Given the description of an element on the screen output the (x, y) to click on. 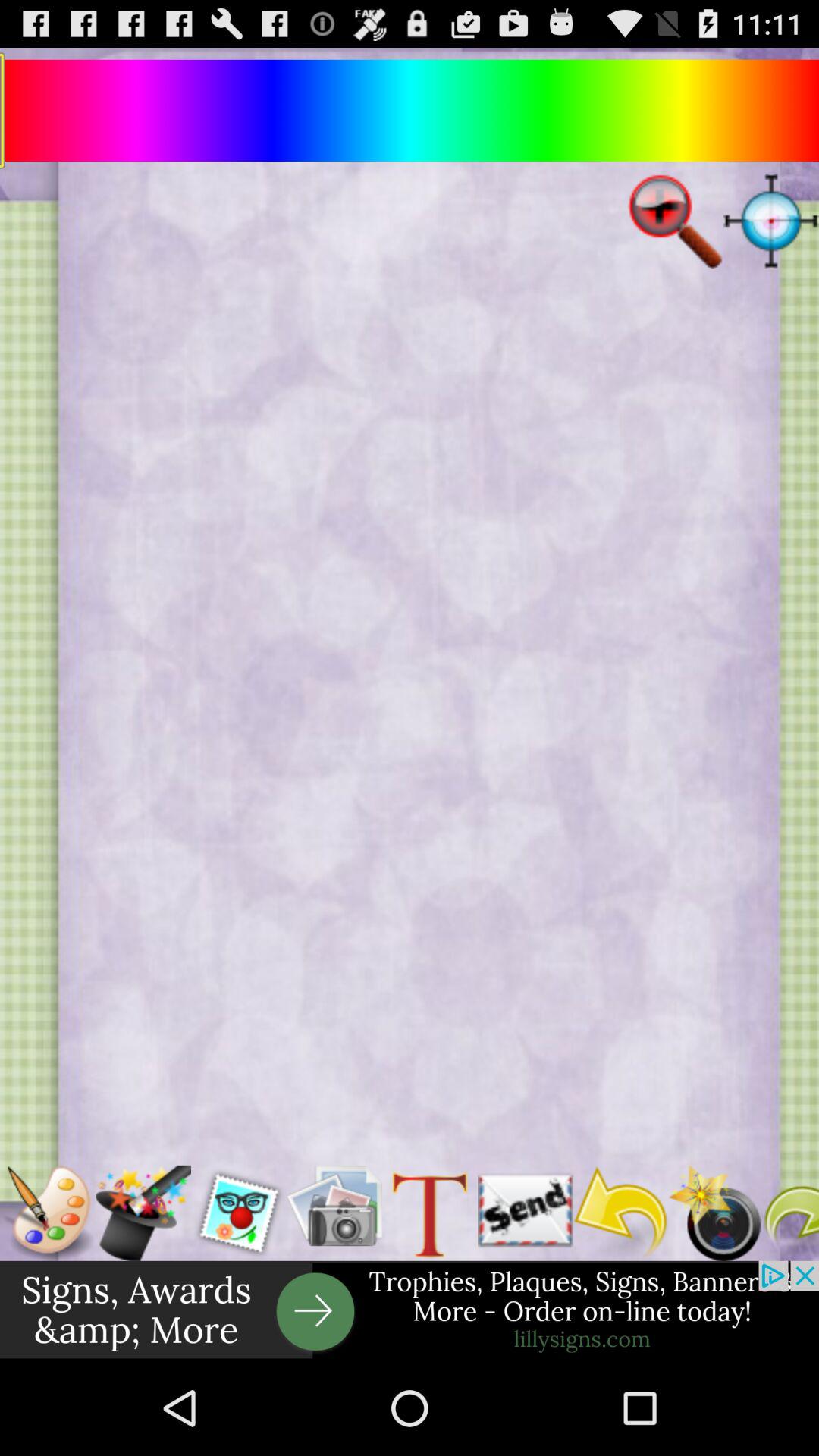
click on the search symbol (675, 221)
